Given the description of an element on the screen output the (x, y) to click on. 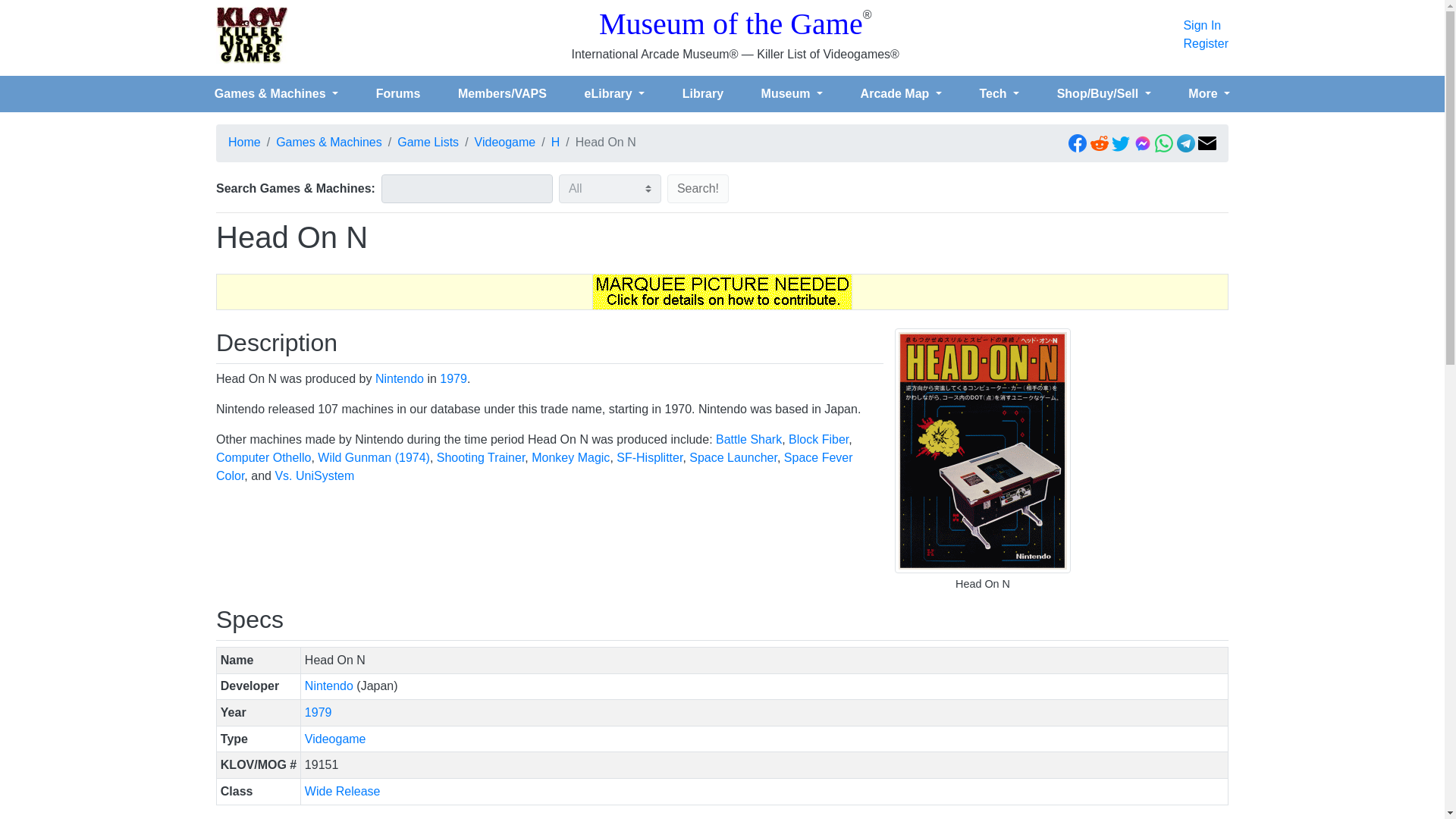
Forums (397, 93)
Sign In (1205, 25)
Register (1205, 44)
eLibrary (614, 93)
